Given the description of an element on the screen output the (x, y) to click on. 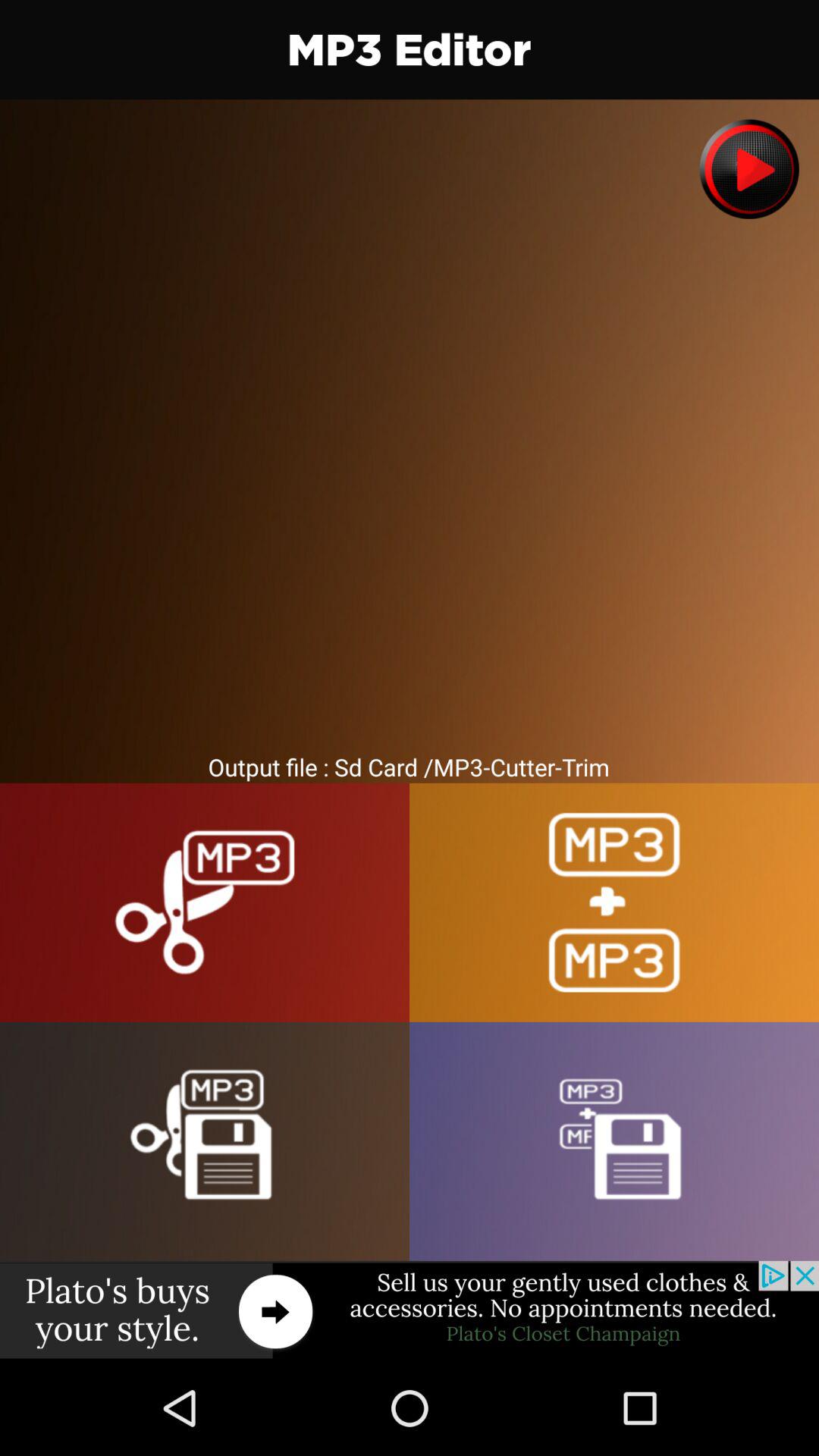
click to mp3 mp3 option (614, 902)
